Given the description of an element on the screen output the (x, y) to click on. 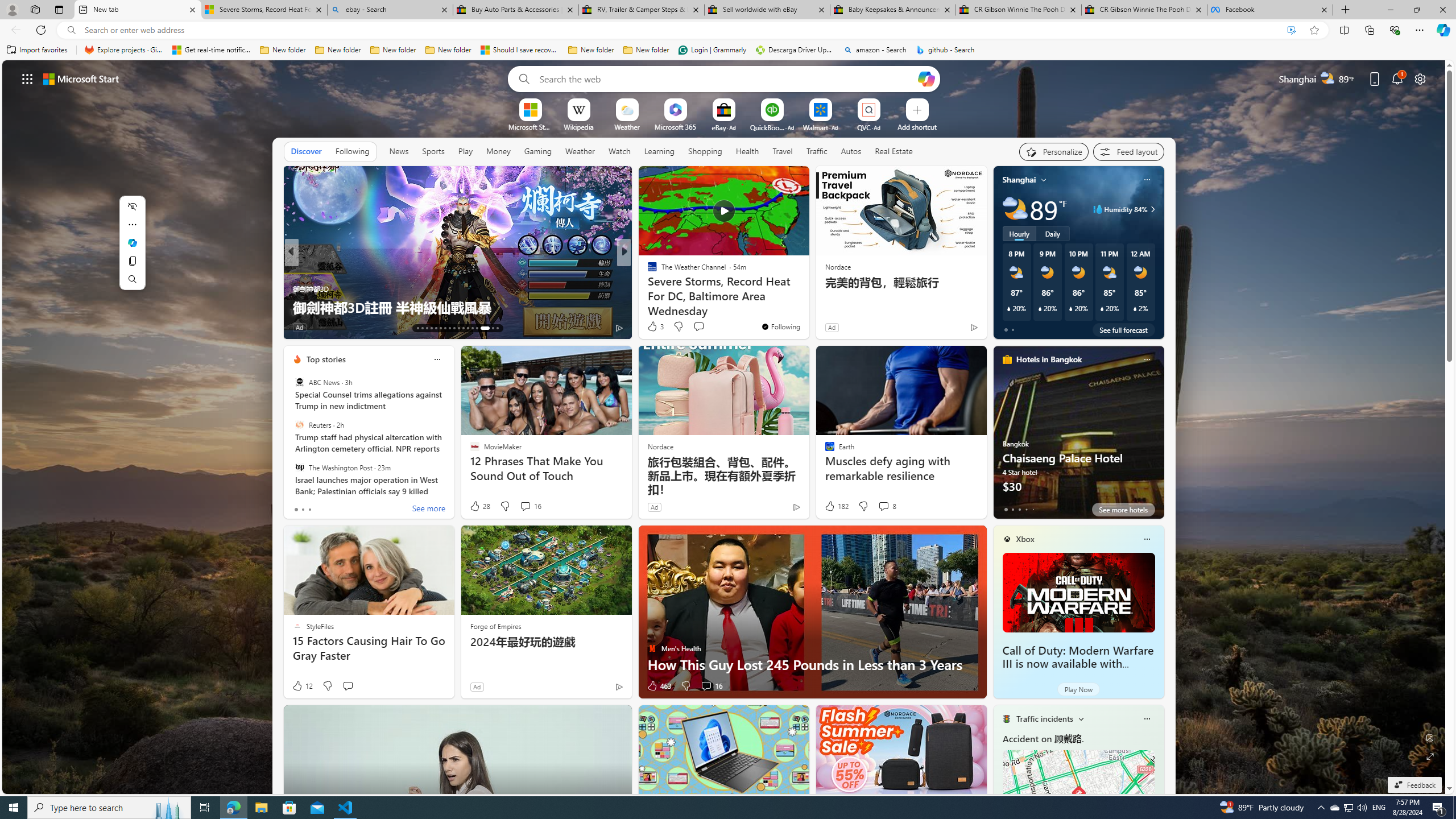
Learning (659, 151)
View comments 1 Comment (352, 327)
Reuters (299, 424)
tab-1 (1012, 509)
Hotels in Bangkok (1048, 359)
AutomationID: tab-23 (462, 328)
Refresh (40, 29)
Buy Auto Parts & Accessories | eBay (515, 9)
ebay - Search (389, 9)
